Given the description of an element on the screen output the (x, y) to click on. 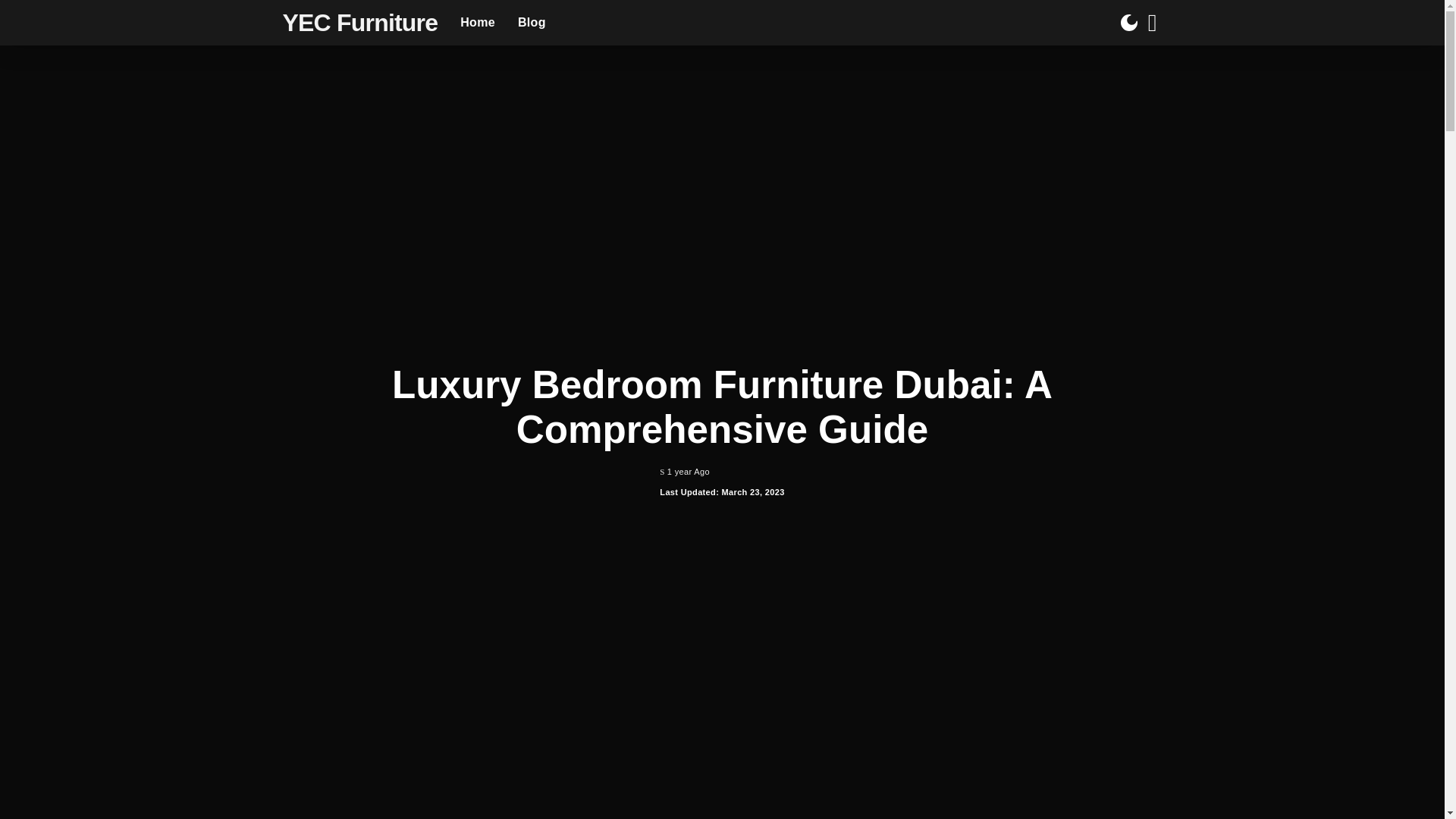
Home (477, 22)
YEC Furniture (360, 22)
Search (1140, 76)
Blog (531, 22)
